Given the description of an element on the screen output the (x, y) to click on. 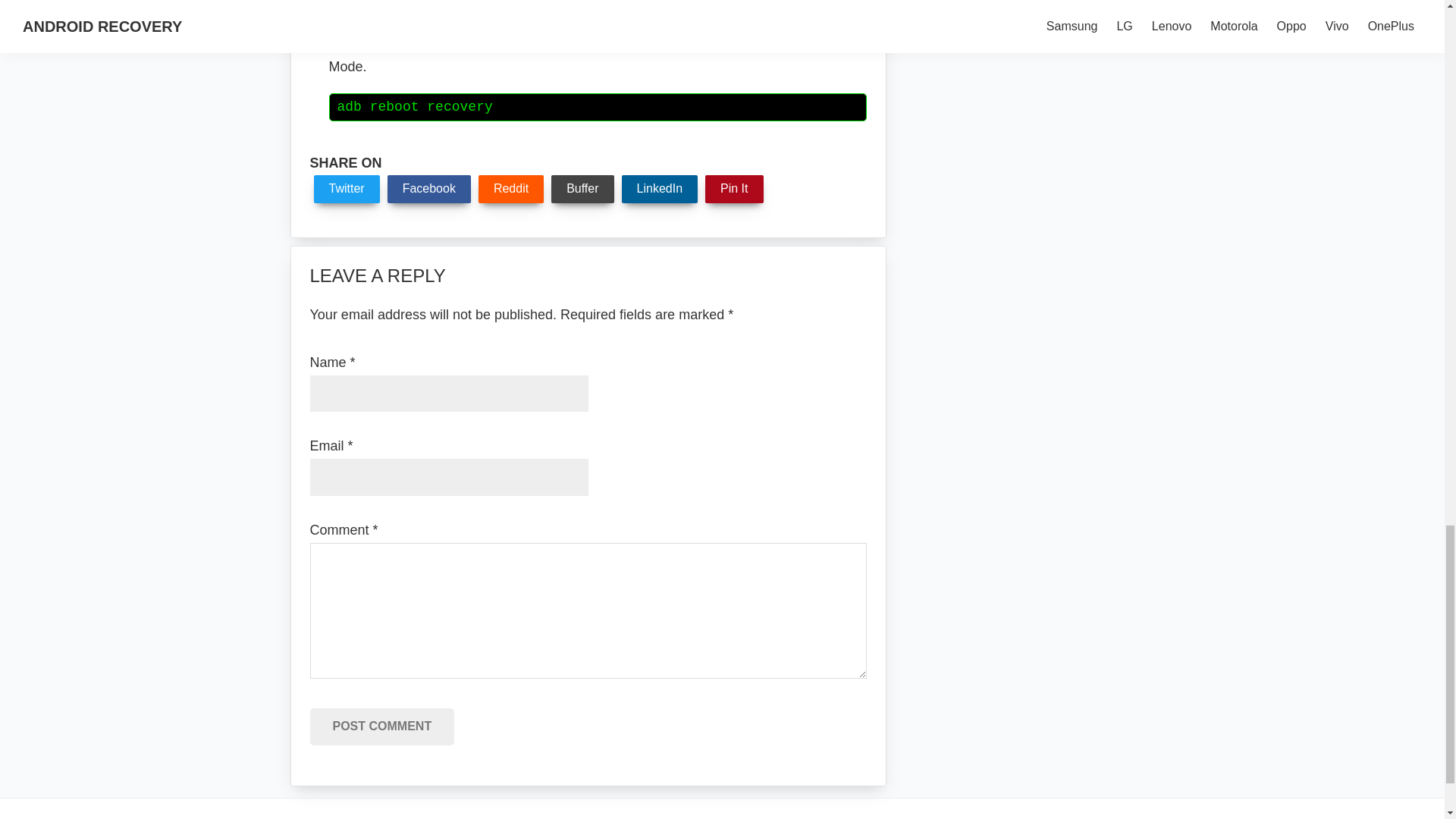
Buffer (581, 188)
Reddit (511, 188)
Facebook (428, 188)
POST COMMENT (381, 726)
Twitter (347, 188)
Pin It (733, 188)
LinkedIn (659, 188)
POST COMMENT (381, 726)
